Given the description of an element on the screen output the (x, y) to click on. 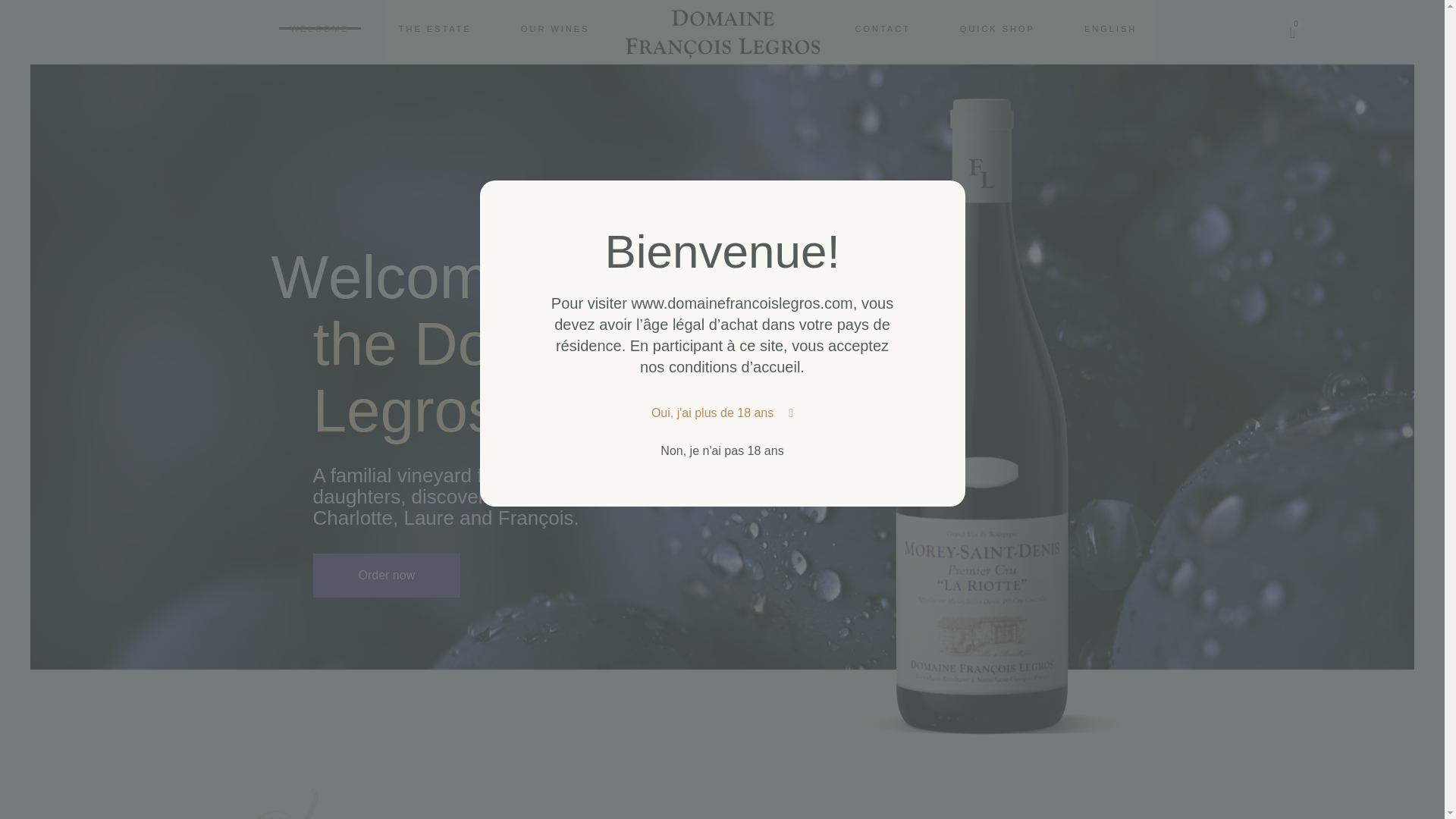
WELCOME (320, 27)
ENGLISH (1110, 27)
OUR WINES (995, 33)
THE ESTATE (440, 33)
QUICK SHOP (555, 27)
CONTACT (435, 27)
